Given the description of an element on the screen output the (x, y) to click on. 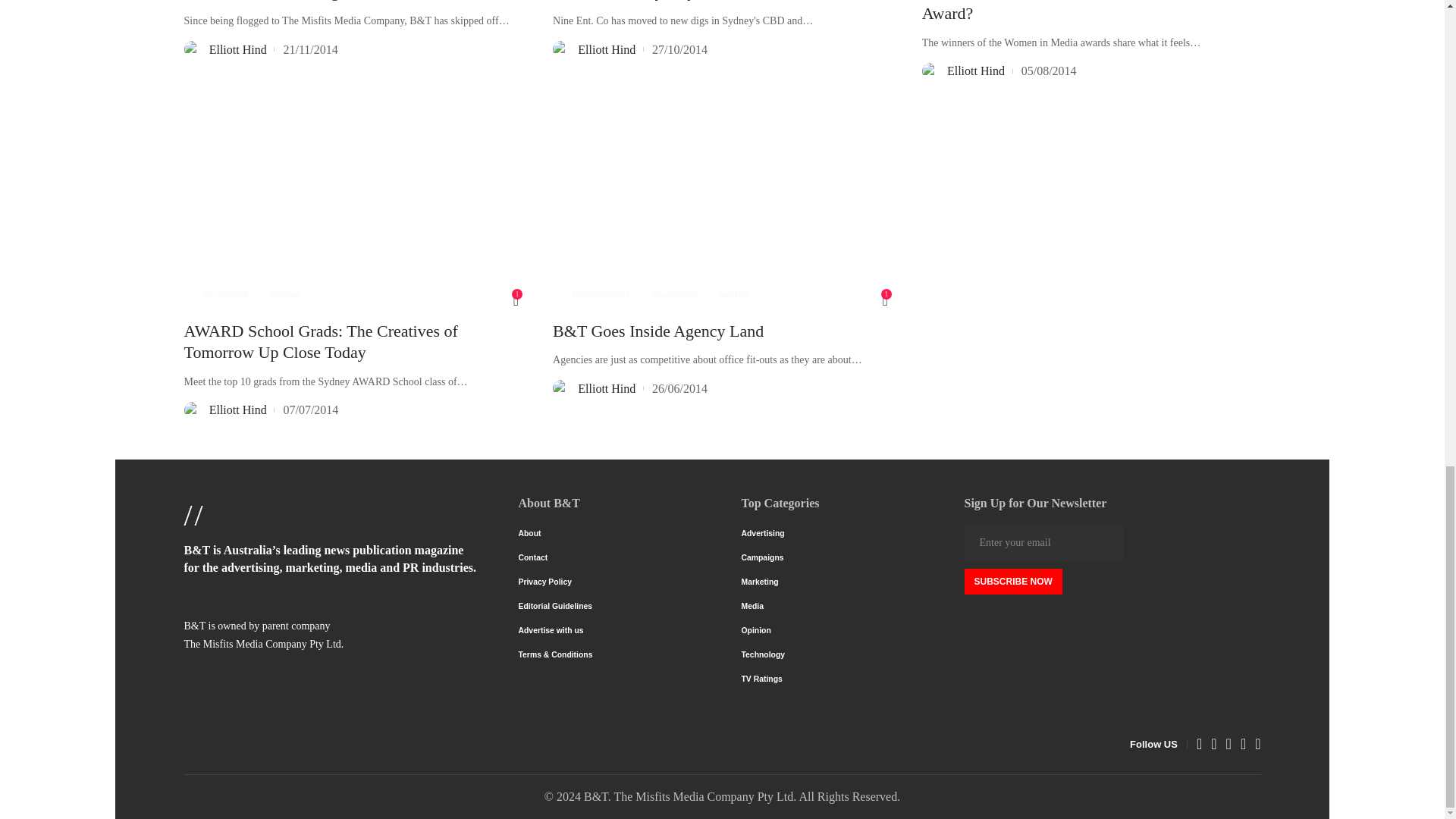
AWARD School Grads: The Creatives of Tomorrow Up Close Today (352, 210)
